Given the description of an element on the screen output the (x, y) to click on. 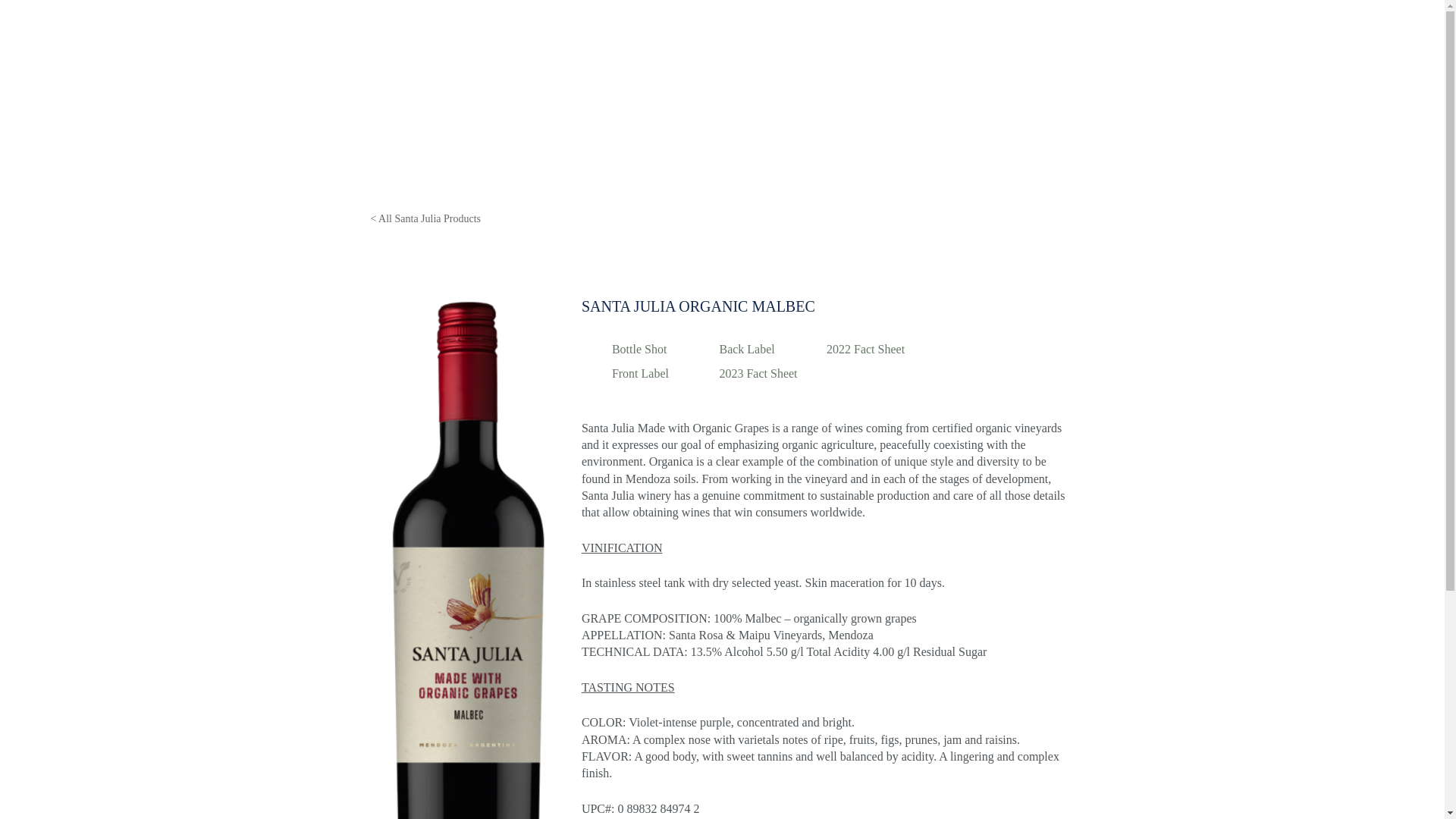
ABOUT US (879, 105)
FIND OUR WINES (1097, 105)
Front Label (661, 373)
2023 Fact Sheet (768, 373)
2022 Fact Sheet (876, 349)
Bottle Shot (661, 349)
PORTFOLIO (793, 105)
Back Label (768, 349)
